Given the description of an element on the screen output the (x, y) to click on. 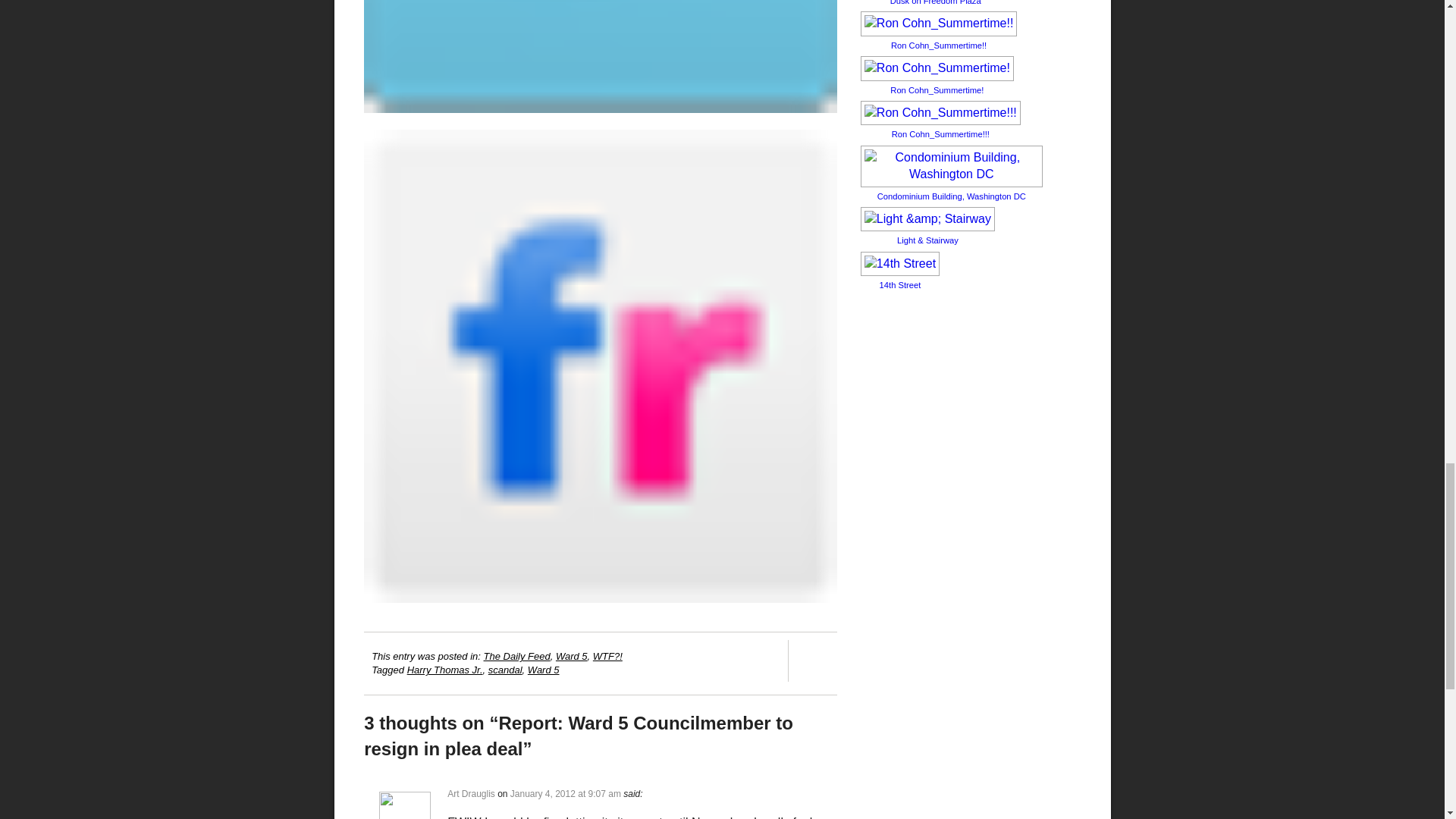
Ward 5 (543, 669)
Harry Thomas Jr. (445, 669)
scandal (504, 669)
WTF?! (607, 655)
Ward 5 (572, 655)
The Daily Feed (516, 655)
Art Drauglis (470, 793)
January 4, 2012 at 9:07 am (566, 793)
